Given the description of an element on the screen output the (x, y) to click on. 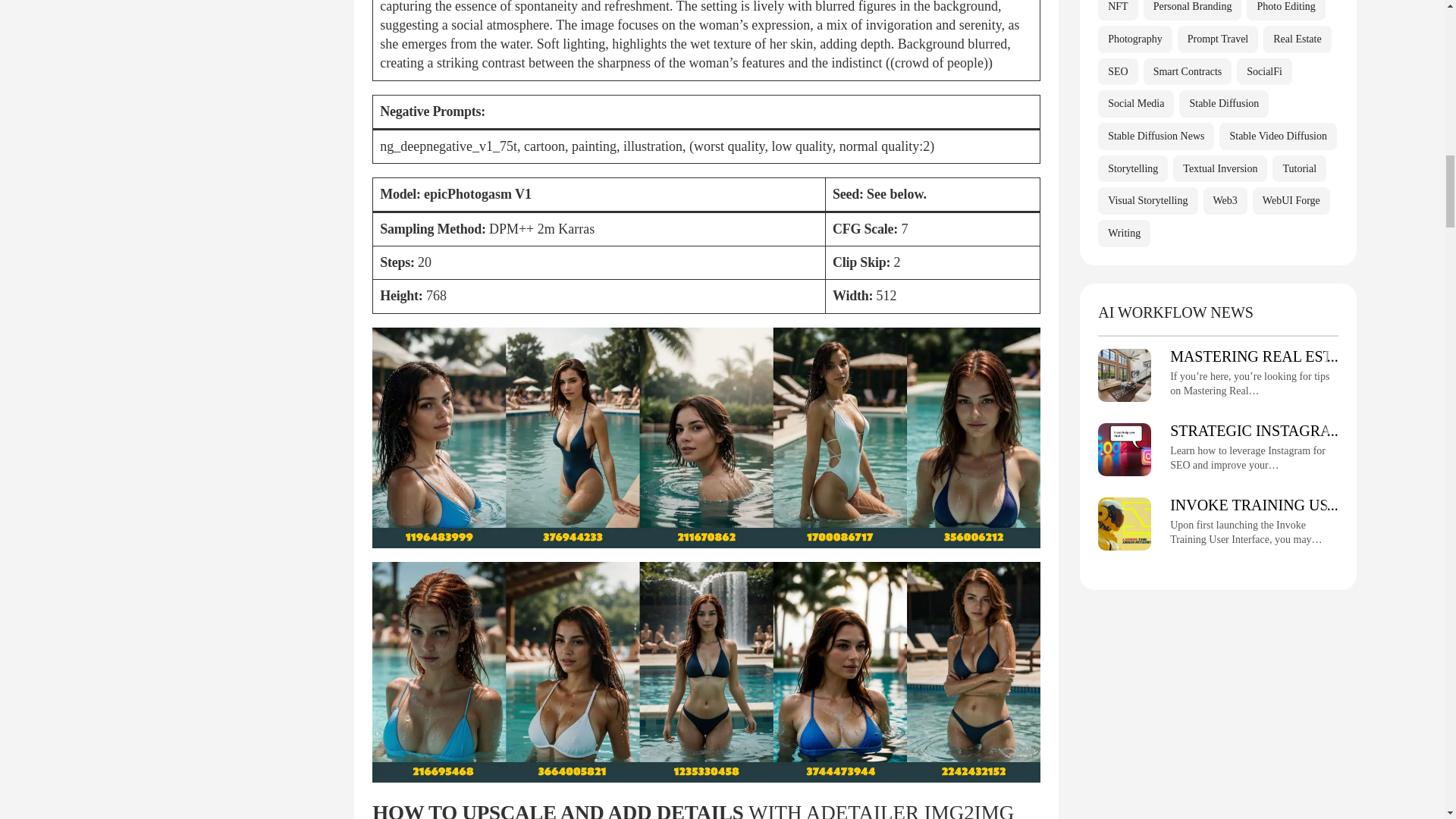
epicPhotogasm V1 (477, 193)
